Given the description of an element on the screen output the (x, y) to click on. 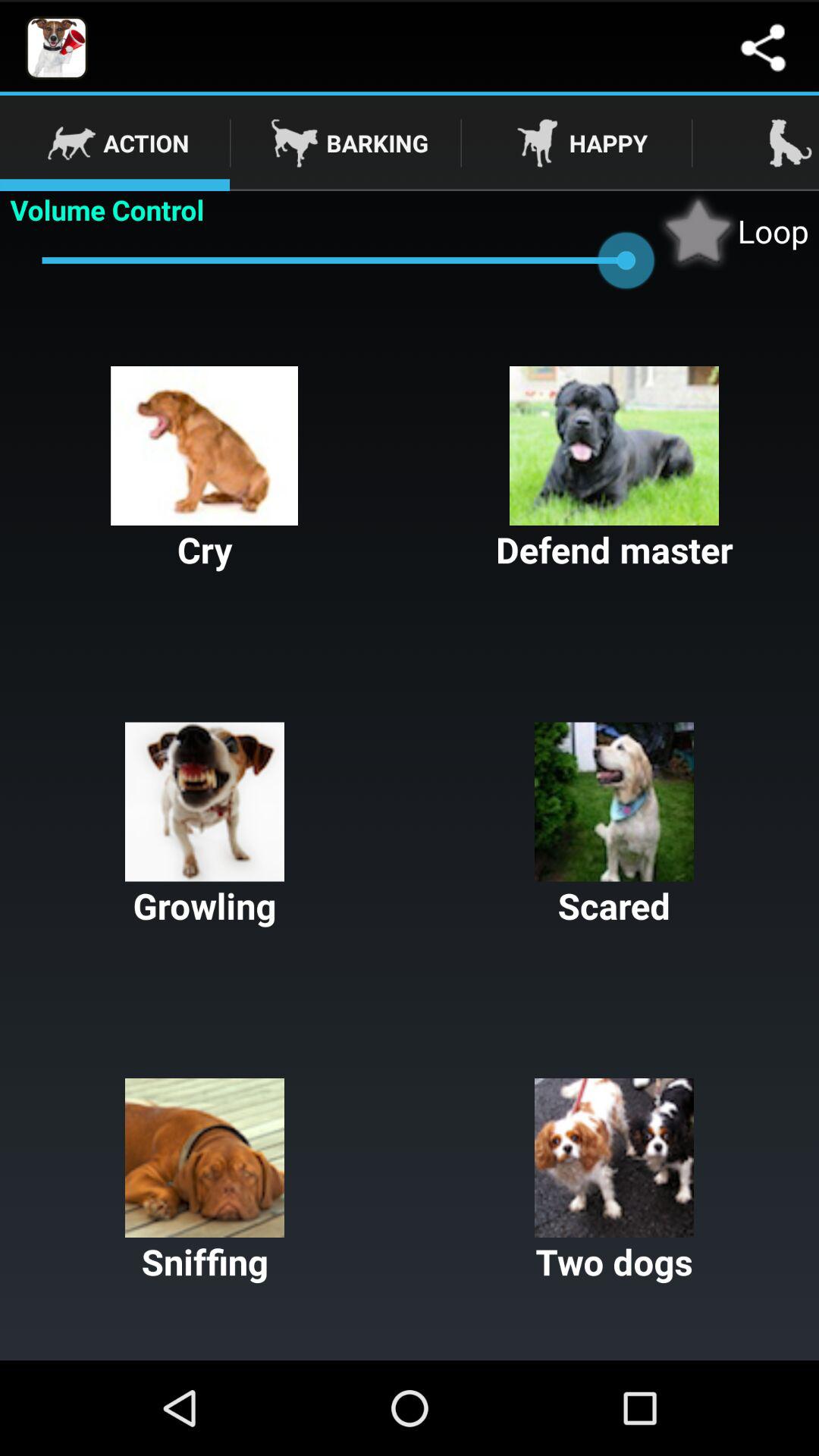
click the icon above the growling button (614, 469)
